Given the description of an element on the screen output the (x, y) to click on. 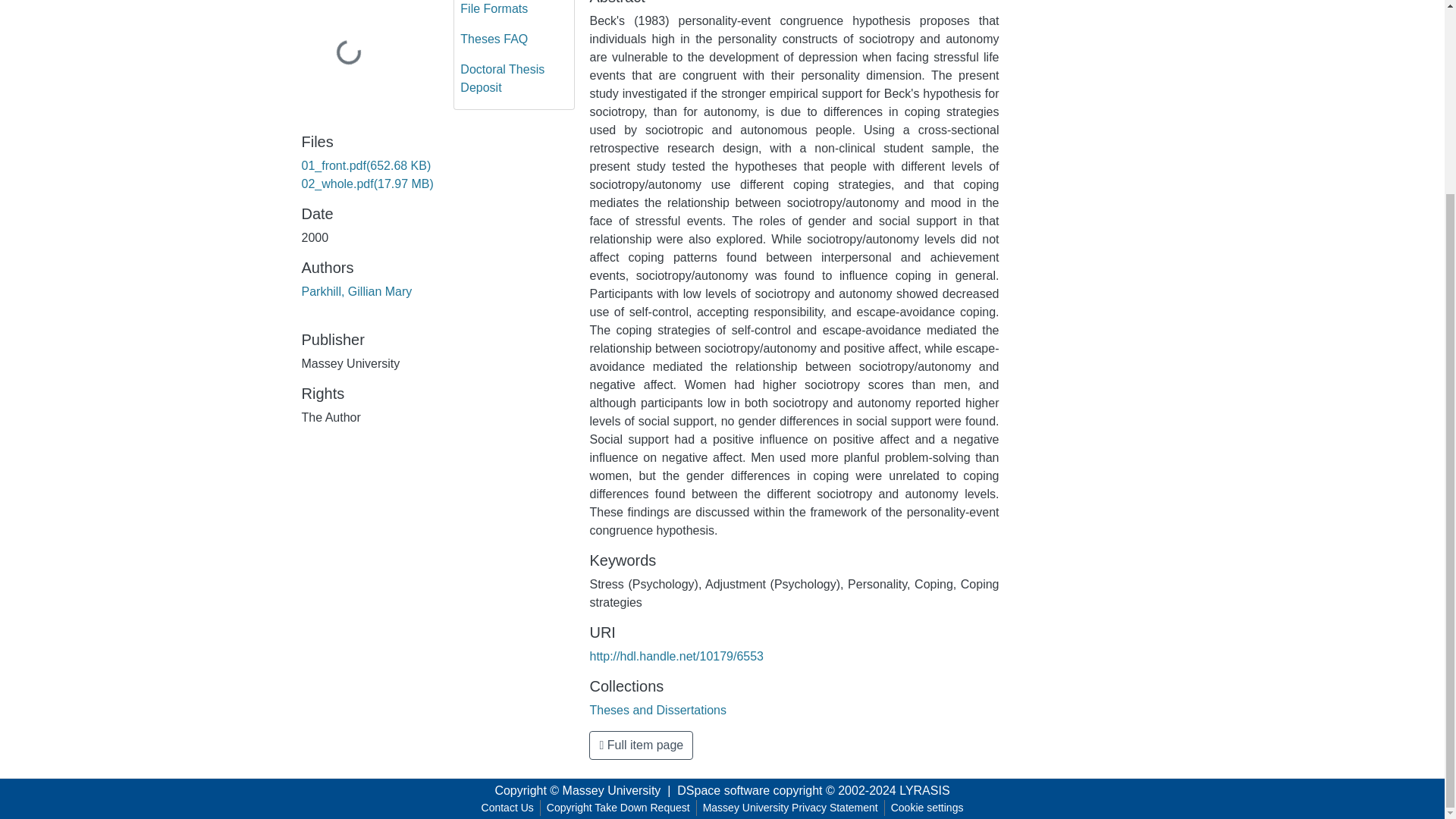
Contact Us (508, 807)
Doctoral Thesis Deposit (513, 78)
File Formats (513, 12)
Theses FAQ (513, 39)
DSpace software (723, 789)
Theses and Dissertations (657, 709)
Full item page (641, 745)
LYRASIS (924, 789)
Parkhill, Gillian Mary (356, 291)
